Given the description of an element on the screen output the (x, y) to click on. 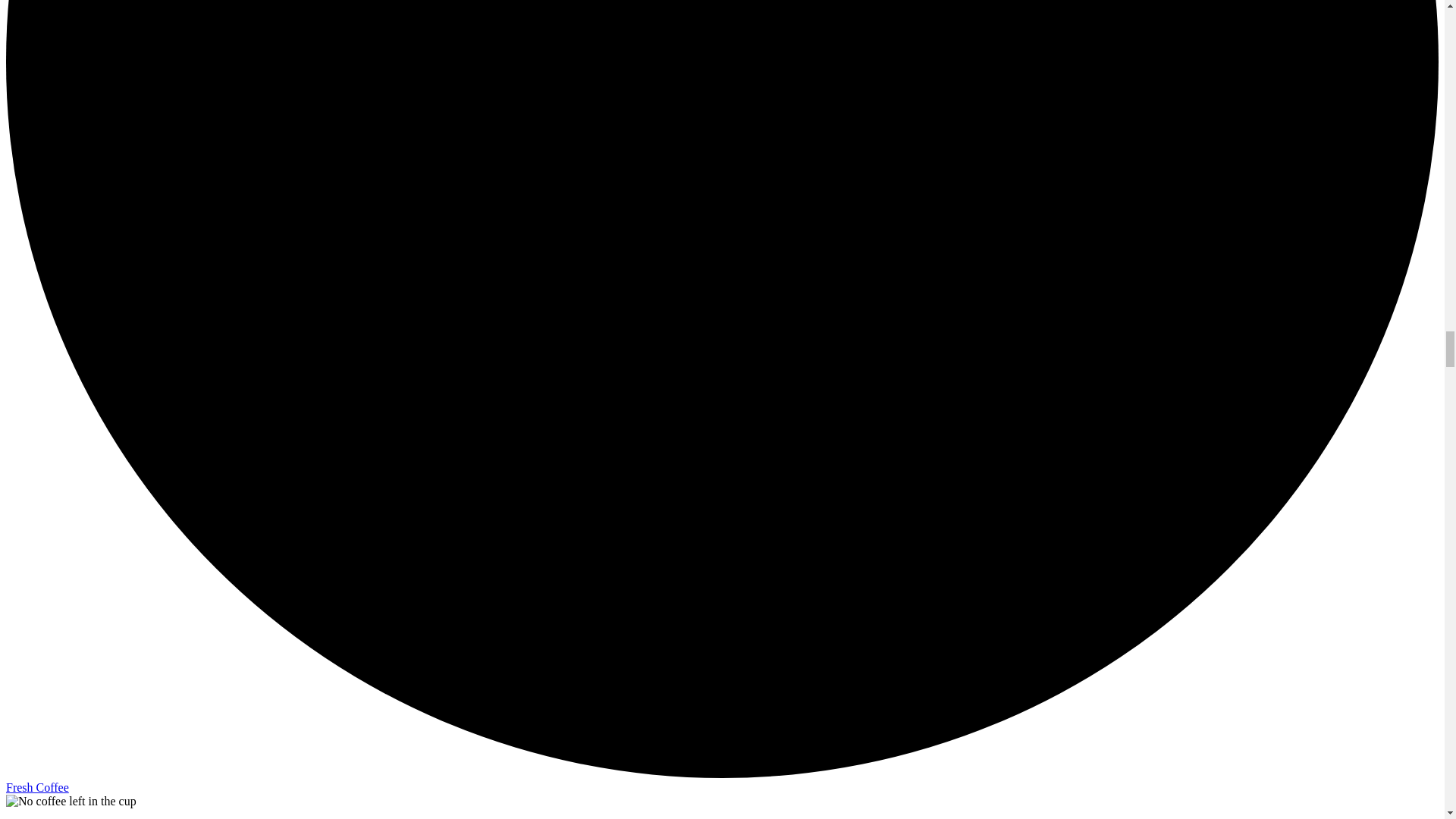
Fresh Coffee (36, 787)
